Given the description of an element on the screen output the (x, y) to click on. 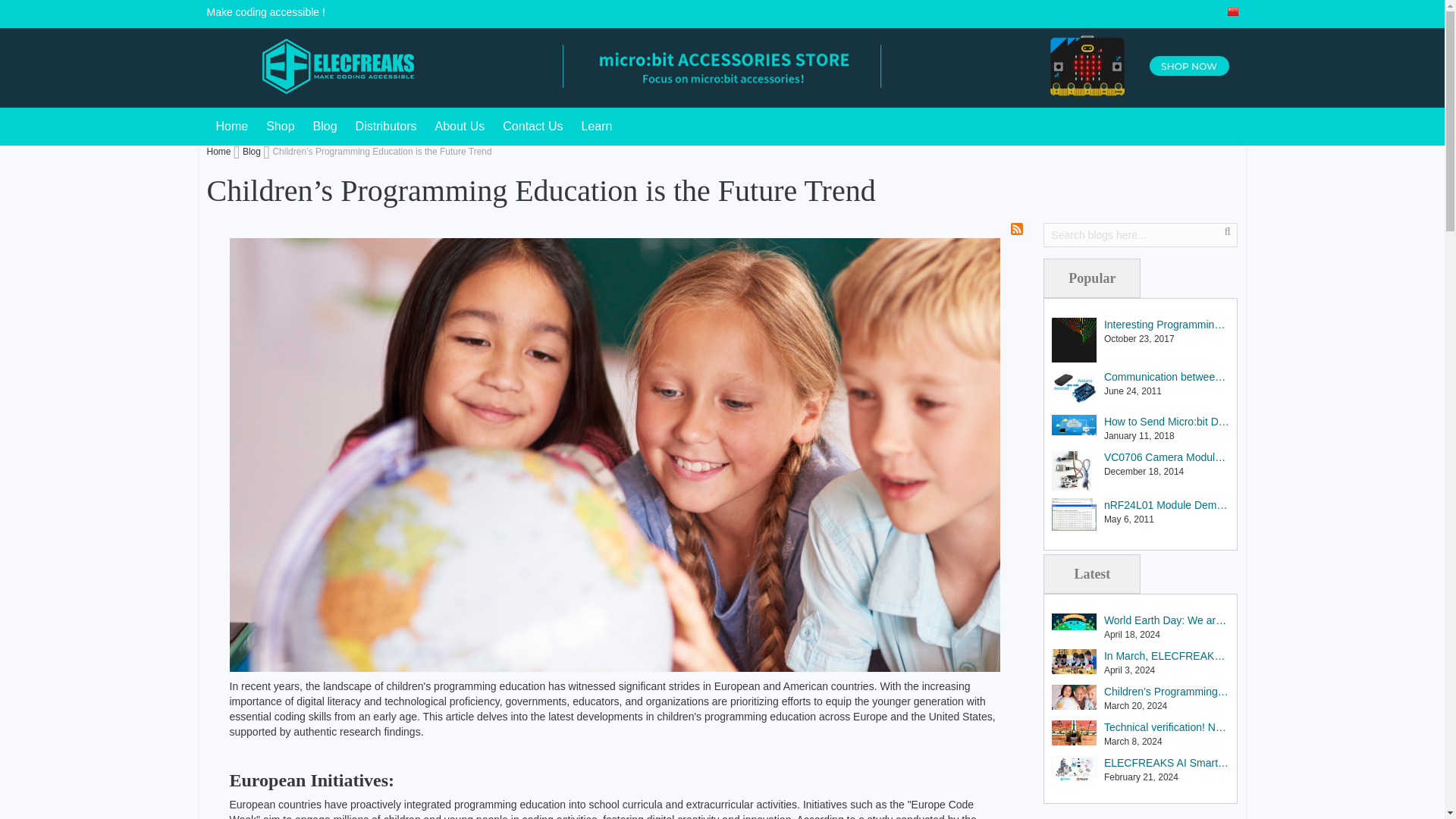
Blog (325, 126)
Distributors (386, 126)
How to Send Micro:bit Data to ThingSpeak IoT Platform (1166, 421)
nRF24L01 Module Demo for Arduino (1166, 505)
Contact Us (532, 126)
Go to Home Page (219, 151)
Home (231, 126)
About Us (460, 126)
Blog (253, 151)
Blog  (325, 126)
Shop (279, 126)
Make coding accessible ! (319, 66)
VC0706 Camera Module DIY Guide (1166, 458)
Learn (596, 126)
Distributors (386, 126)
